Given the description of an element on the screen output the (x, y) to click on. 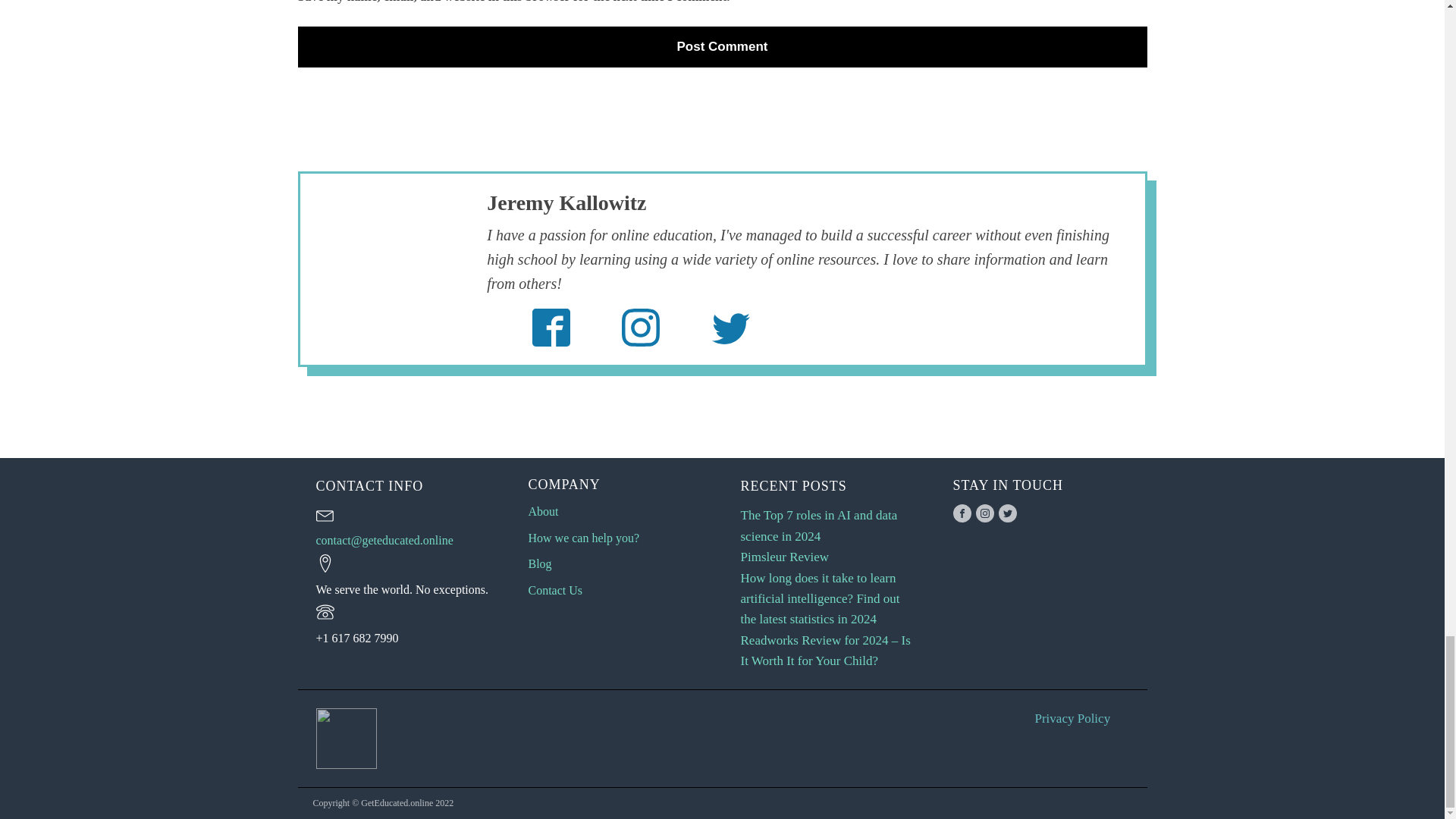
How we can help you? (583, 538)
Post Comment (722, 46)
About (542, 511)
Post Comment (722, 46)
